Given the description of an element on the screen output the (x, y) to click on. 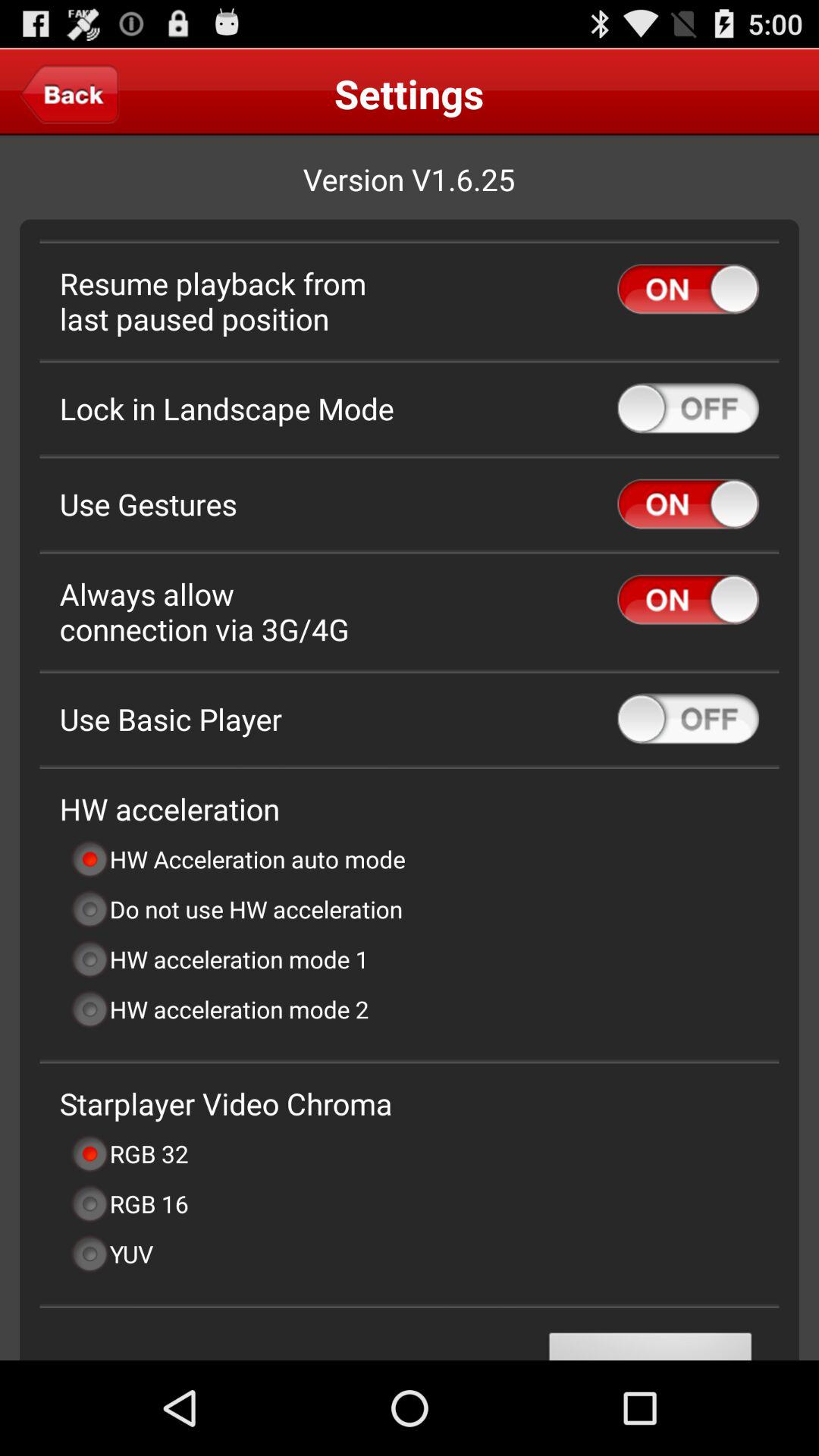
toggle use gestures (688, 504)
